Given the description of an element on the screen output the (x, y) to click on. 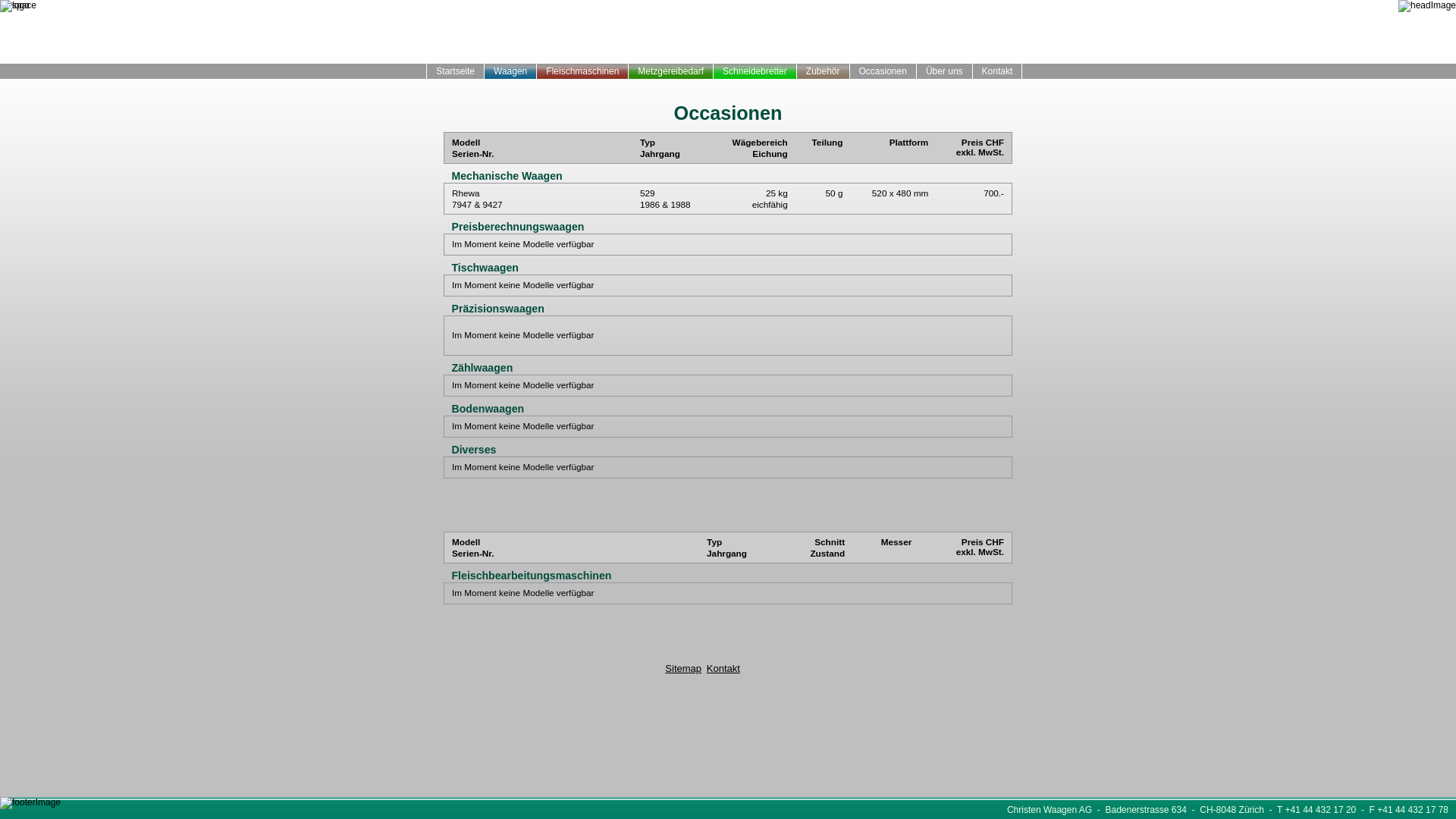
Metzgereibedarf Element type: text (670, 70)
Startseite Element type: text (455, 70)
Kontakt Element type: text (723, 668)
  Element type: text (415, 70)
Schneidebretter Element type: text (755, 70)
Occasionen Element type: text (882, 70)
Fleischmaschinen Element type: text (582, 70)
  -  T +41 44 432 17 20  -  F +41 44 432 17 78 Element type: text (1356, 809)
Sitemap Element type: text (683, 668)
Waagen Element type: text (510, 70)
Kontakt Element type: text (997, 70)
